Given the description of an element on the screen output the (x, y) to click on. 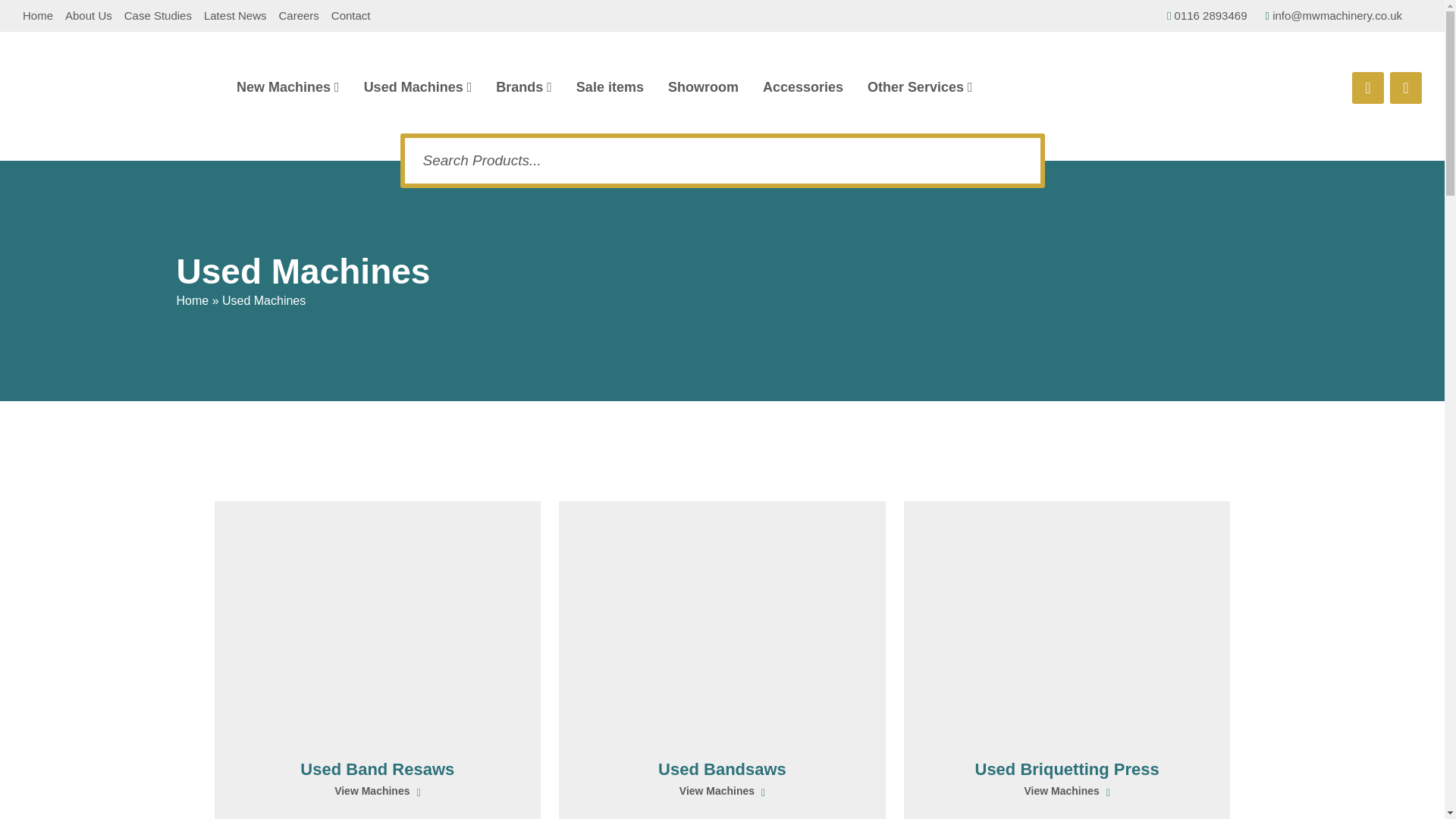
Case Studies (157, 15)
Latest News (234, 15)
Careers (298, 15)
Contact (351, 15)
Home (37, 15)
New Machines (287, 87)
About Us (88, 15)
0116 2893469 (1207, 16)
